Given the description of an element on the screen output the (x, y) to click on. 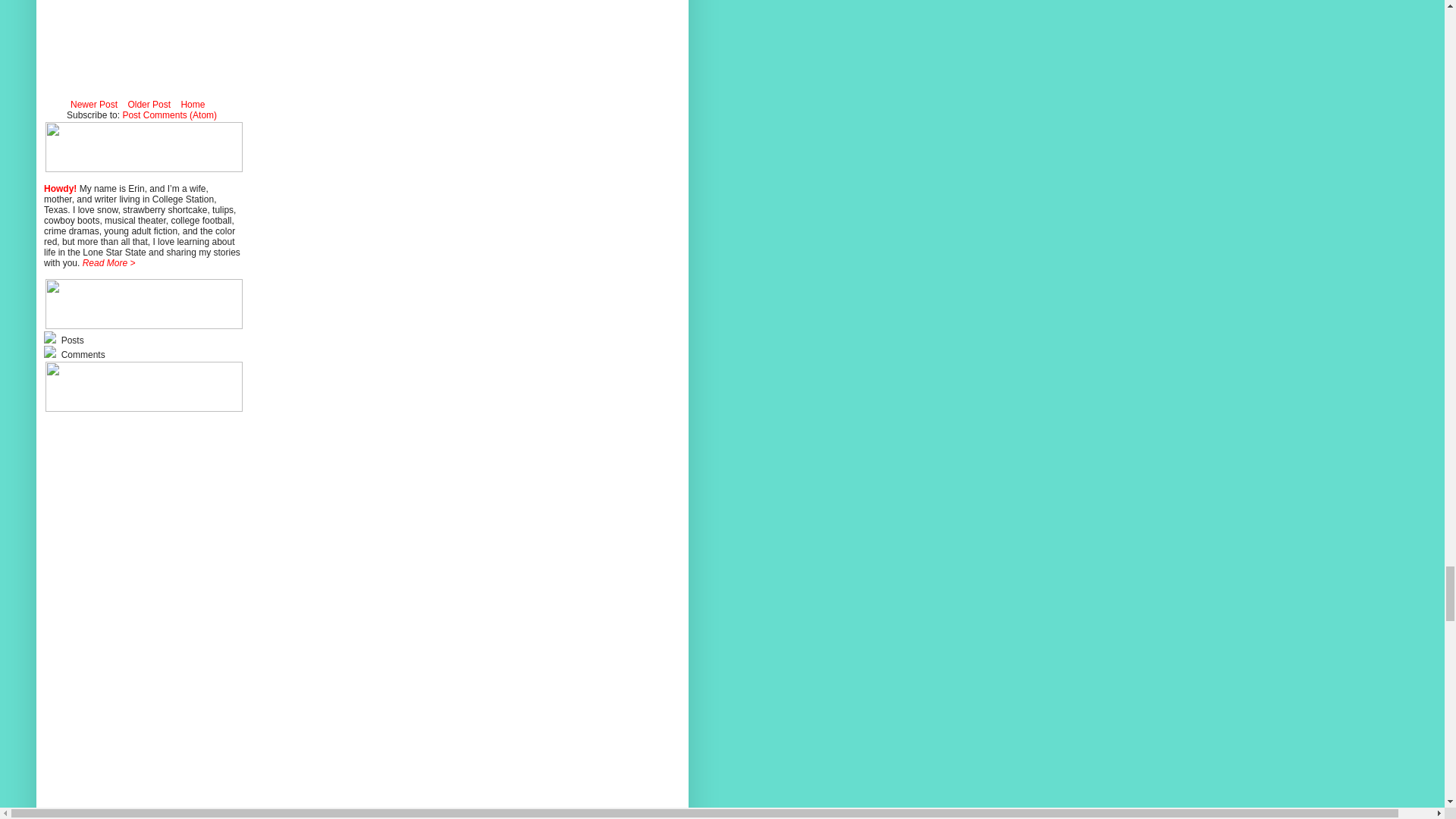
Older Post (148, 104)
Newer Post (93, 104)
